Given the description of an element on the screen output the (x, y) to click on. 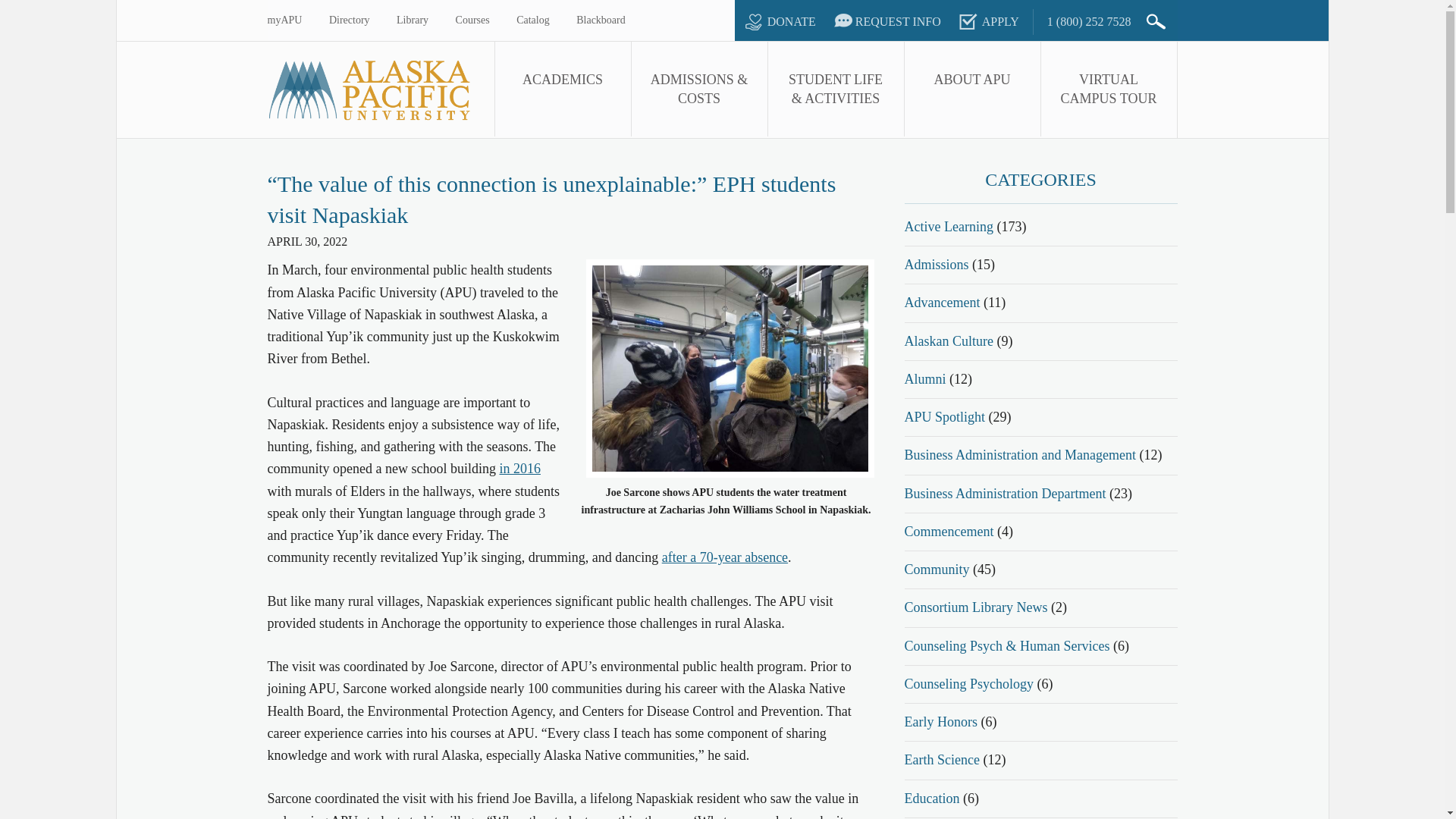
Catalog (533, 20)
myAPU (283, 20)
Library (412, 20)
Directory (349, 20)
REQUEST INFO (884, 22)
Courses (472, 20)
DONATE (777, 22)
ACADEMICS (562, 88)
APPLY (987, 22)
Alaska Pacific University (379, 89)
